Given the description of an element on the screen output the (x, y) to click on. 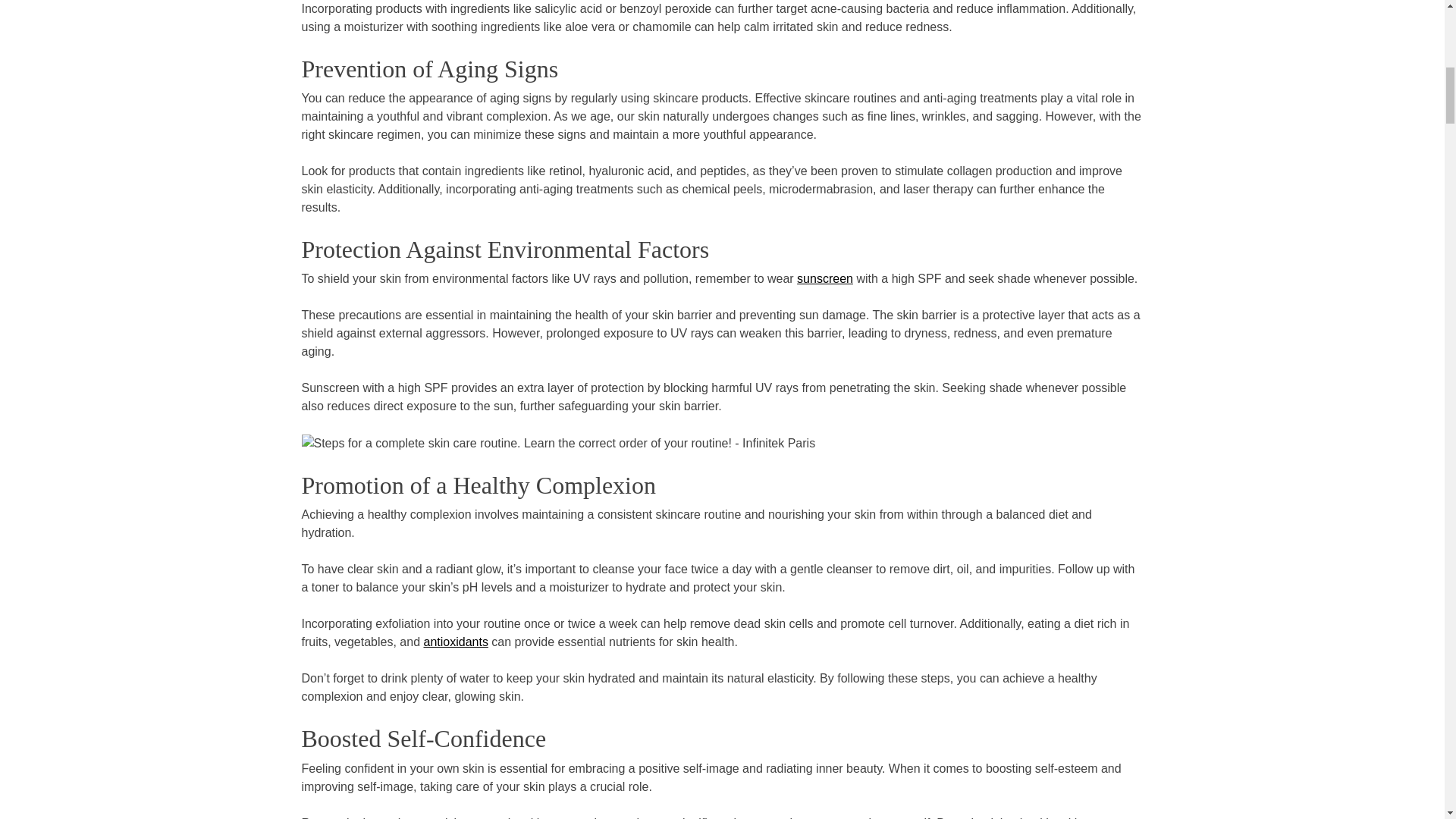
sunscreen (824, 279)
antioxidants (455, 642)
